Given the description of an element on the screen output the (x, y) to click on. 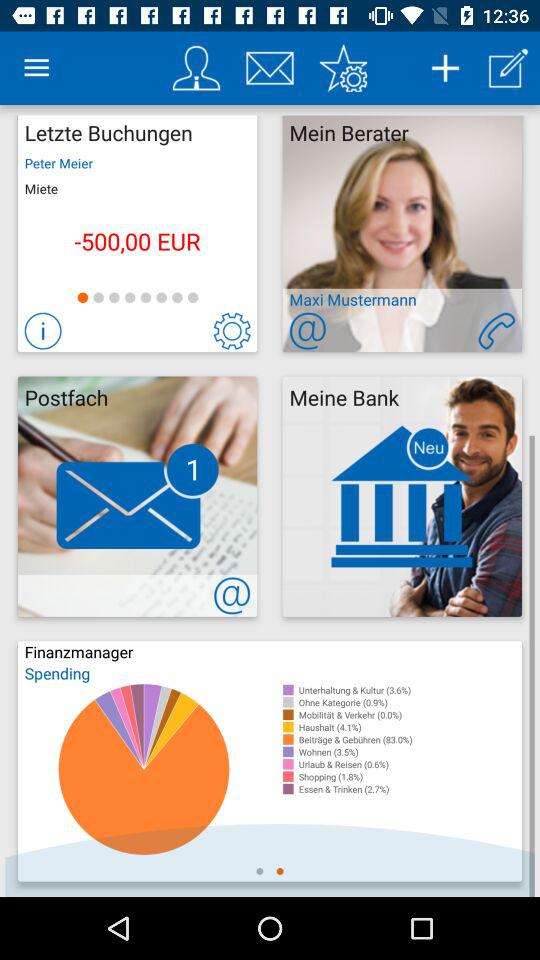
email (269, 67)
